Given the description of an element on the screen output the (x, y) to click on. 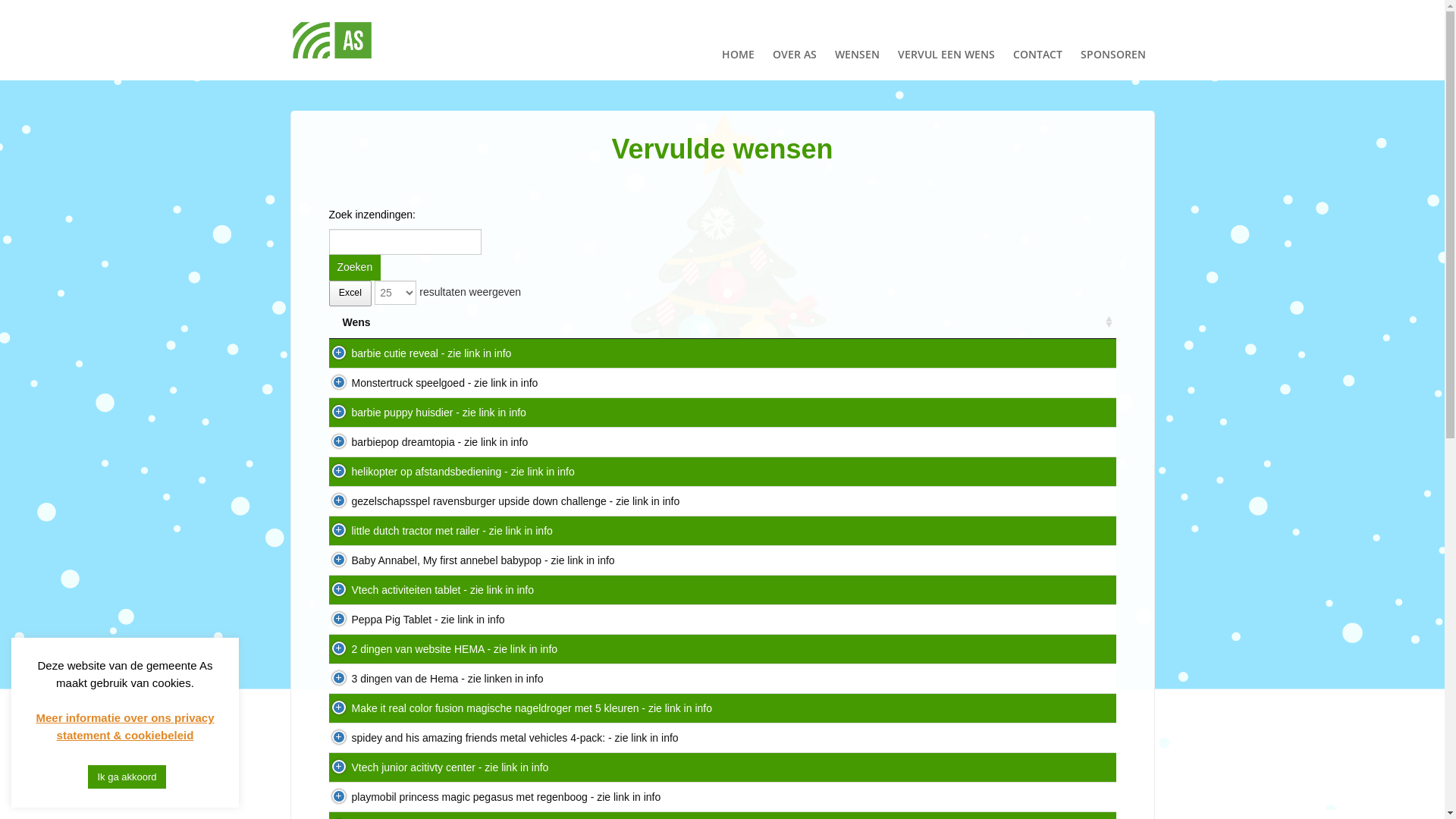
VERVUL EEN WENS Element type: text (946, 40)
SPONSOREN Element type: text (1112, 40)
HOME Element type: text (737, 40)
Excel Element type: text (350, 293)
CONTACT Element type: text (1037, 40)
Meer informatie over ons privacy statement & cookiebeleid Element type: text (124, 726)
WENSEN Element type: text (856, 40)
OVER AS Element type: text (793, 40)
Gemeenste As Wensboom - Wens mee Element type: hover (331, 40)
Ik ga akkoord Element type: text (126, 776)
Zoeken Element type: text (355, 267)
